Given the description of an element on the screen output the (x, y) to click on. 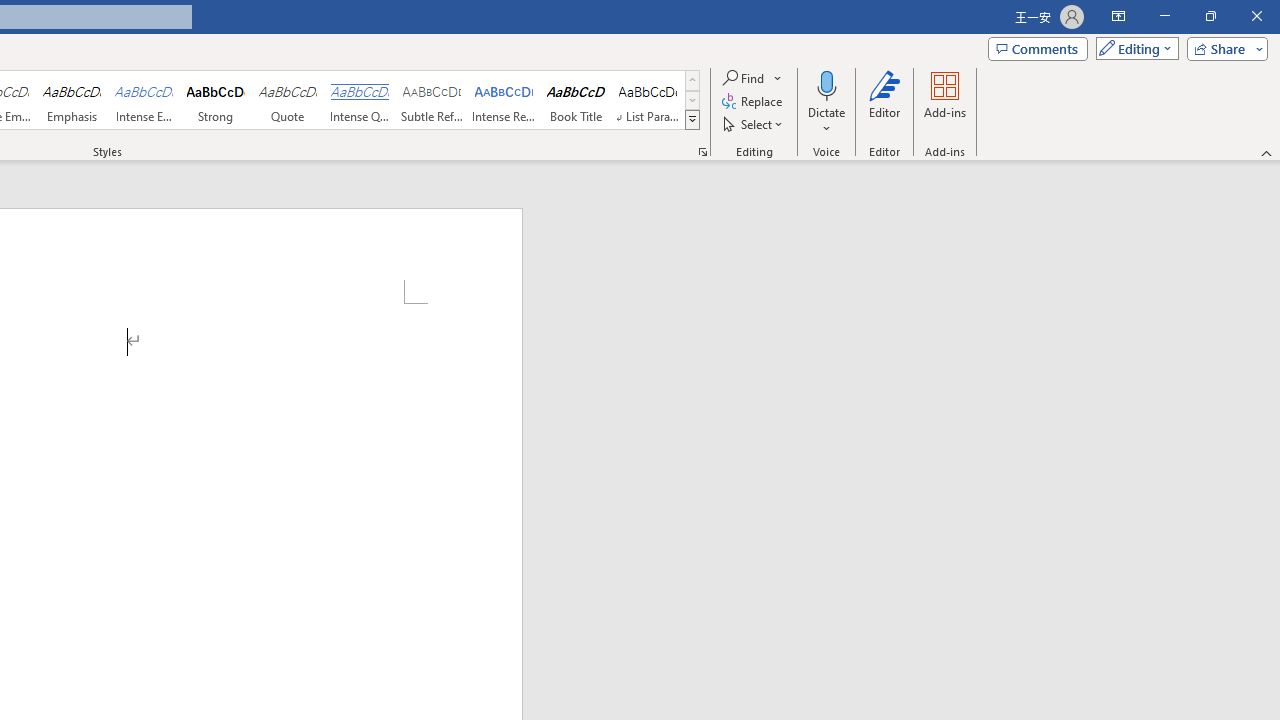
Intense Emphasis (143, 100)
Quote (287, 100)
Subtle Reference (431, 100)
Intense Quote (359, 100)
Intense Reference (504, 100)
